Given the description of an element on the screen output the (x, y) to click on. 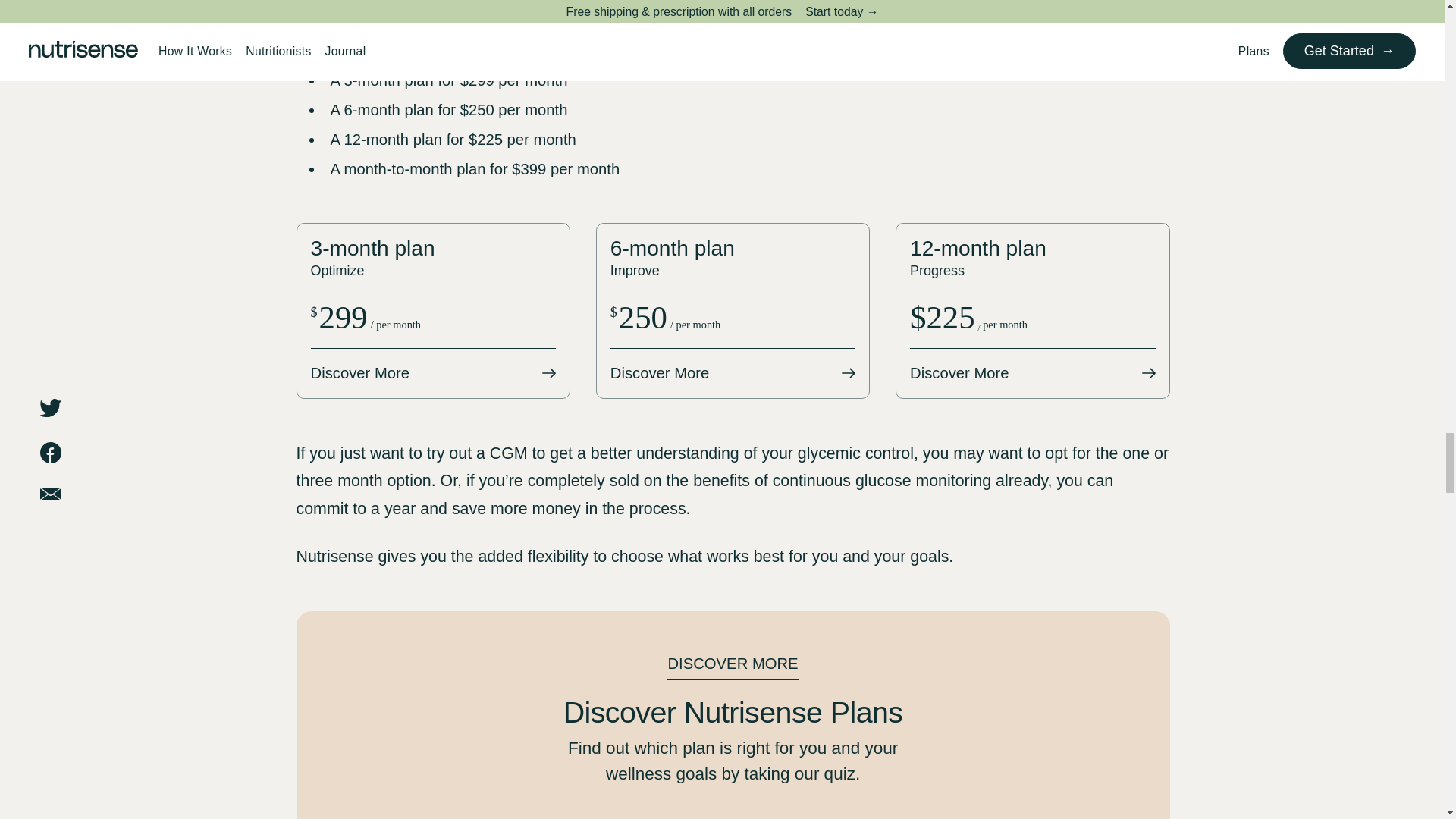
Discover More (733, 373)
Discover More (1033, 373)
Discover More (433, 373)
